Given the description of an element on the screen output the (x, y) to click on. 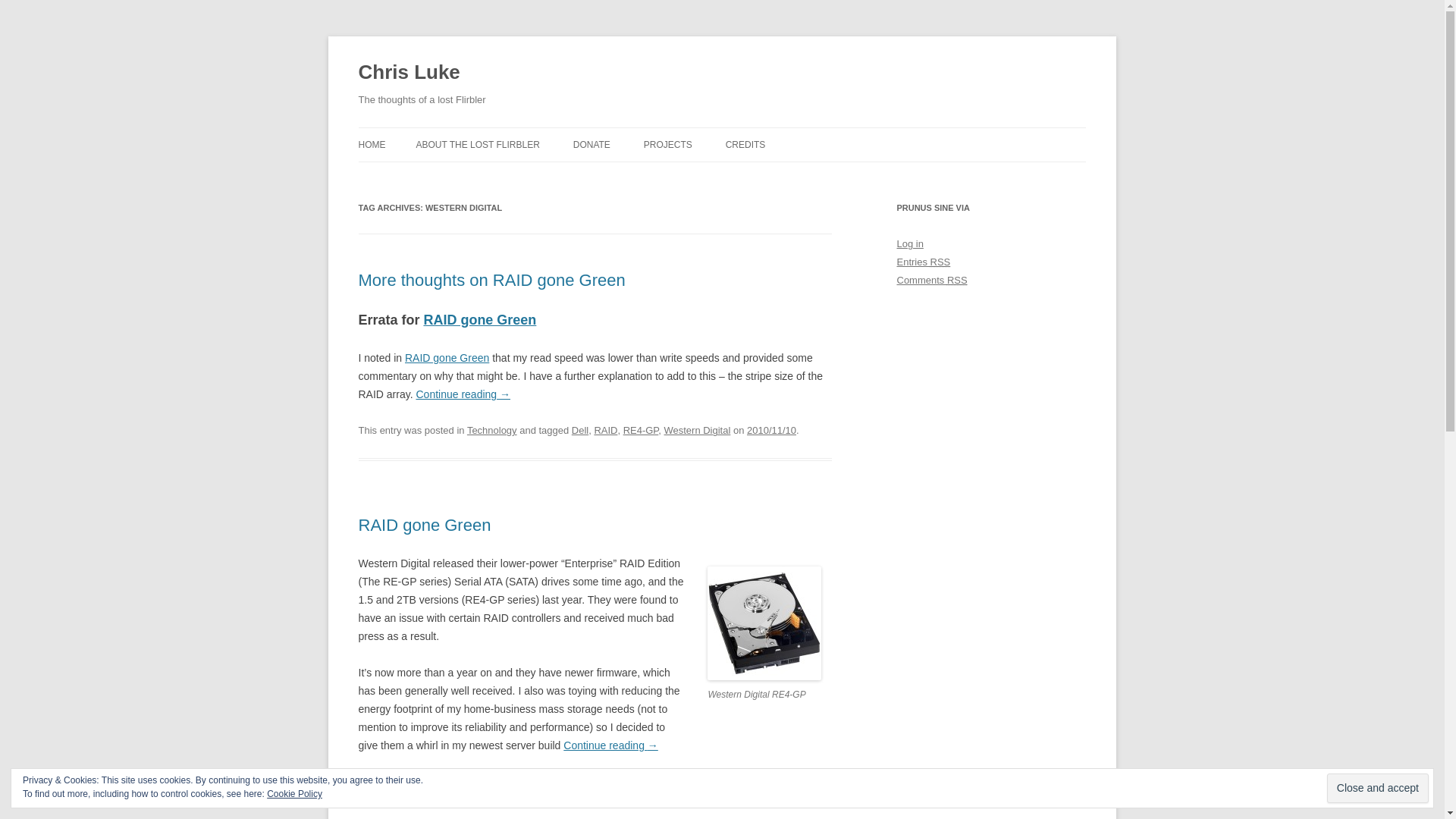
Western Digital (532, 799)
TFO GRAPHVIZ (718, 176)
10:05 (771, 430)
Western Digital RE4-GP Hard Drive (764, 676)
ABOUT THE LOST FLIRBLER (476, 144)
RAID (398, 799)
Really Simple Syndication (940, 261)
THANKS (649, 176)
Technology (491, 430)
Entries RSS (923, 261)
RE4-GP (641, 430)
Western Digital RE4-GP Hard Drive (764, 623)
hard drive (673, 781)
Western Digital (696, 430)
CREDITS (745, 144)
